Given the description of an element on the screen output the (x, y) to click on. 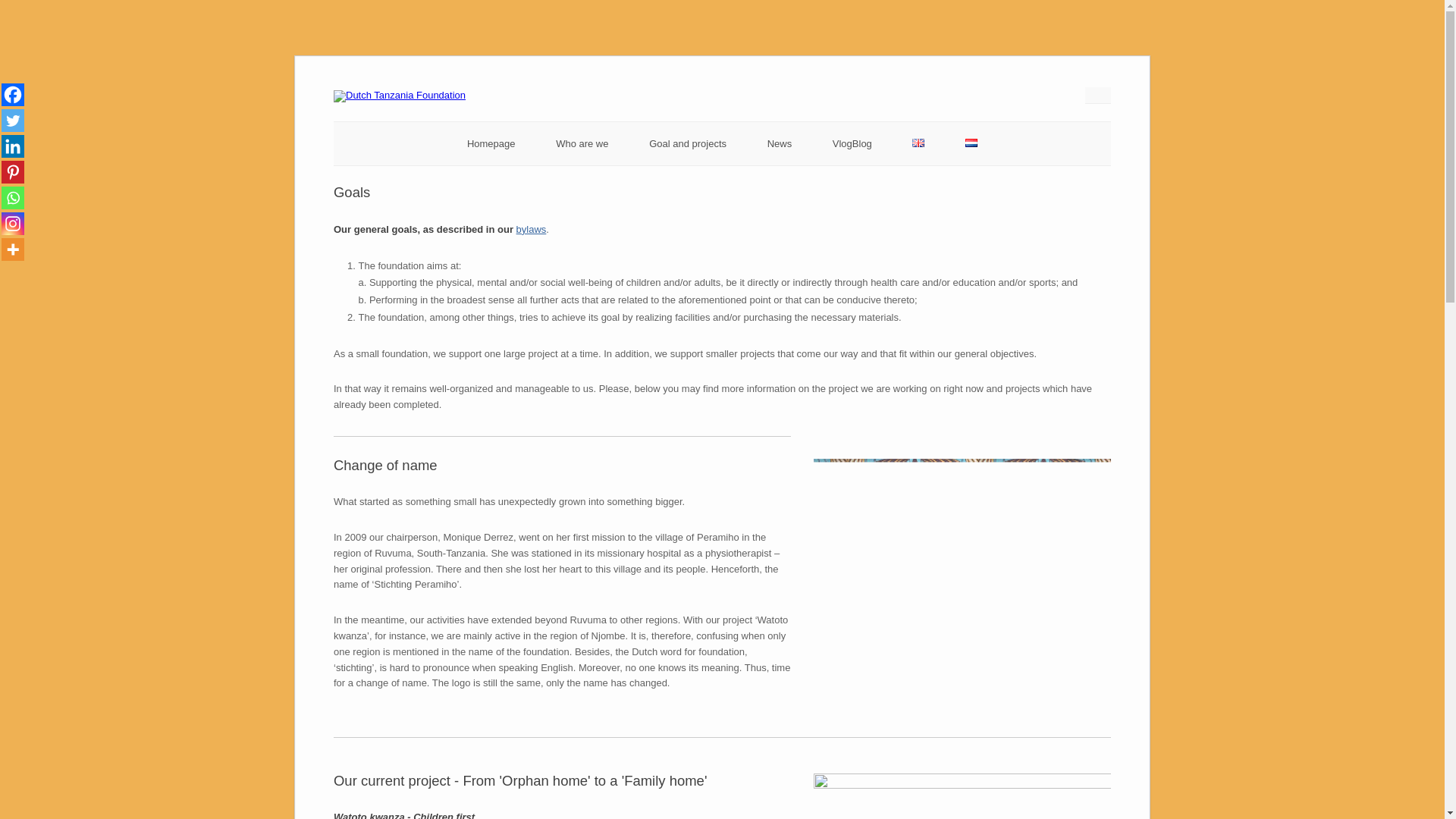
Goal and projects (687, 143)
Linkedin (12, 146)
VlogBlog (852, 143)
More (12, 249)
Schermafbeelding 2019-10-31 om 20.57.32 (961, 534)
Pinterest (12, 171)
Whatsapp (12, 197)
Instagram (12, 223)
Twitter (12, 119)
Facebook (12, 94)
bylaws (531, 229)
Homepage (491, 143)
Search (21, 7)
News (779, 143)
